Given the description of an element on the screen output the (x, y) to click on. 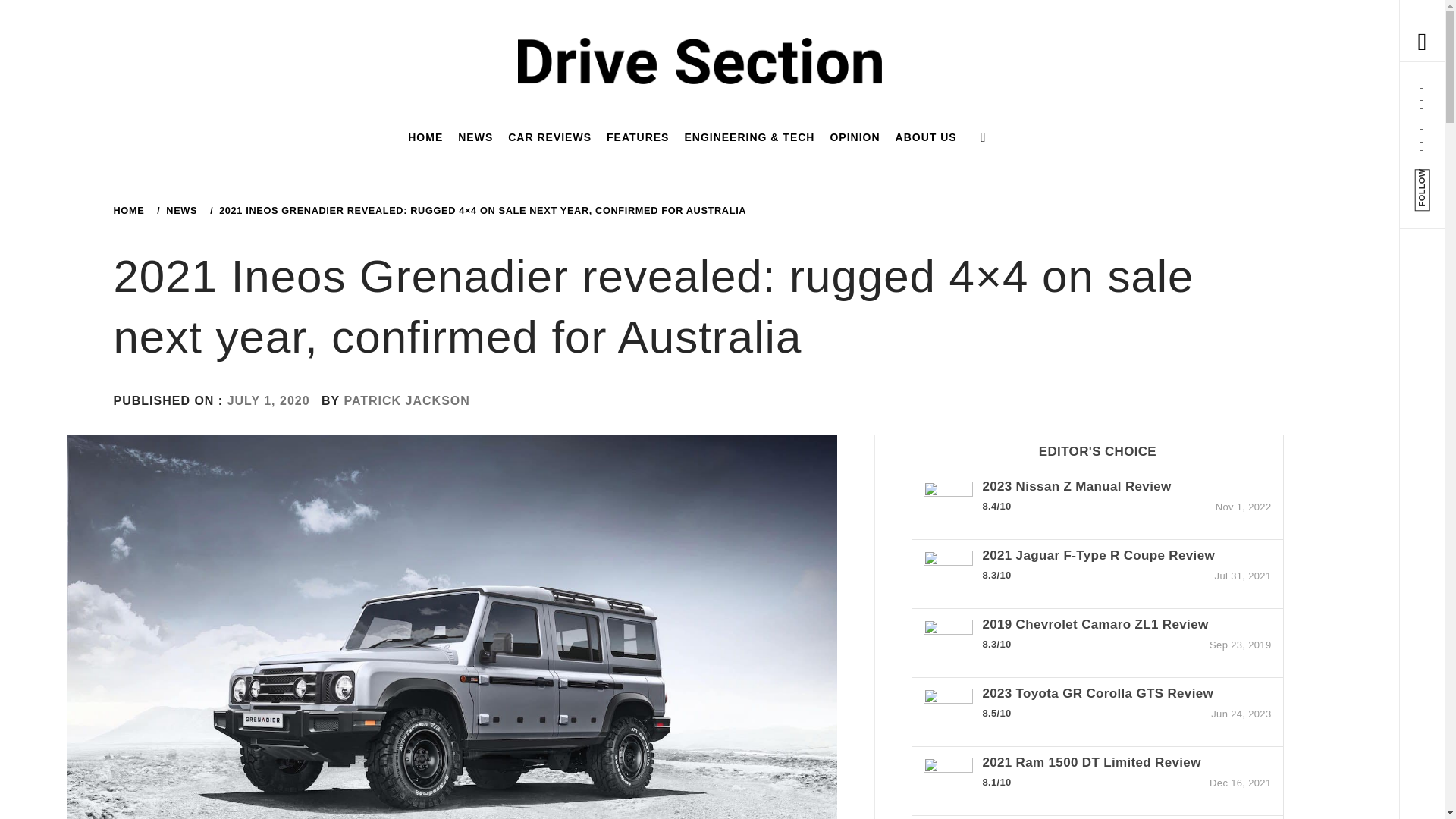
HOME (424, 136)
NEWS (179, 210)
CAR REVIEWS (549, 136)
JULY 1, 2020 (268, 400)
HOME (131, 210)
PATRICK JACKSON (405, 400)
ABOUT US (925, 136)
OPINION (854, 136)
NEWS (474, 136)
FEATURES (637, 136)
